Given the description of an element on the screen output the (x, y) to click on. 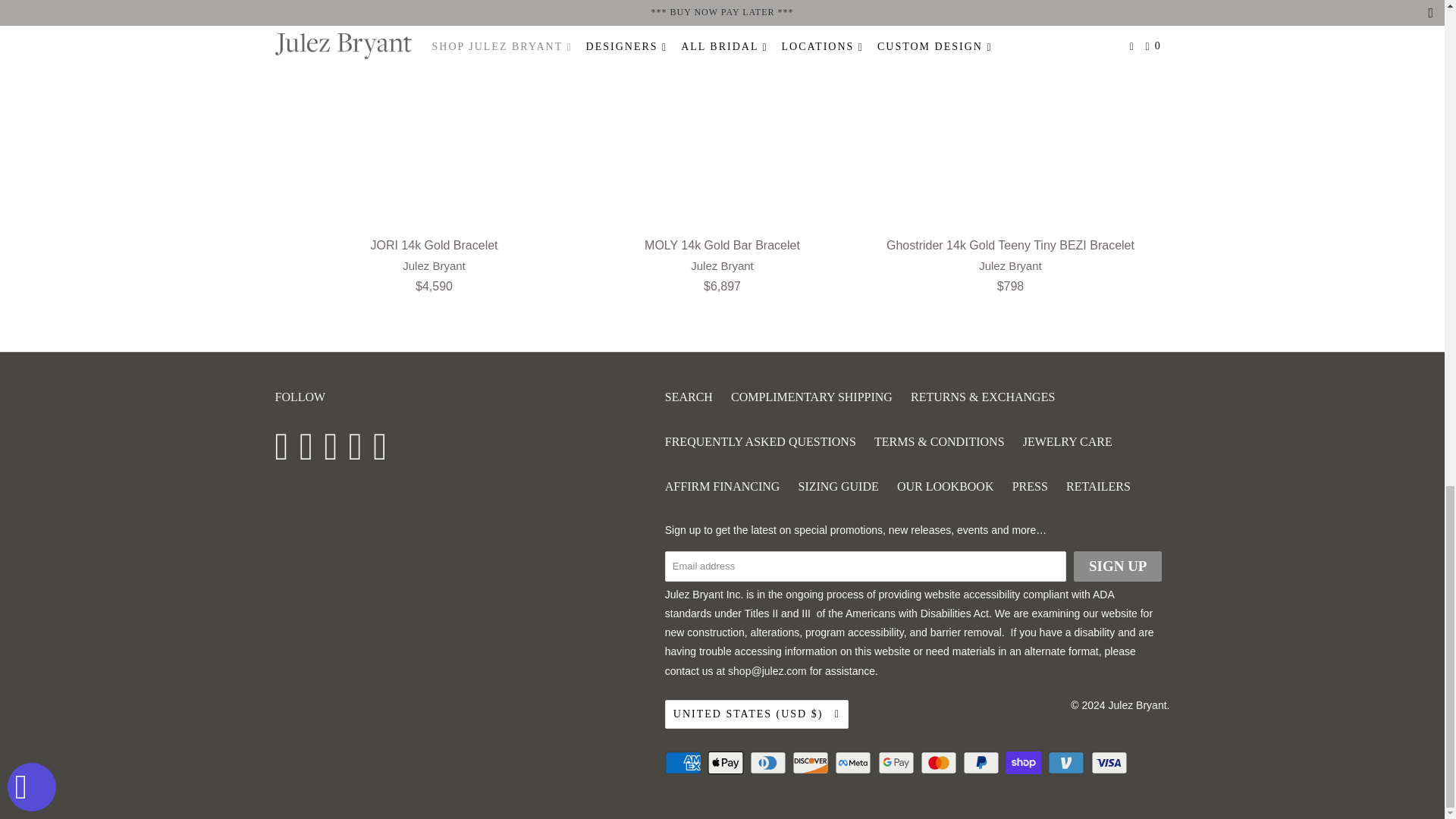
Venmo (1067, 762)
Shop Pay (1025, 762)
Mastercard (939, 762)
Apple Pay (726, 762)
Diners Club (769, 762)
Meta Pay (854, 762)
Google Pay (897, 762)
American Express (684, 762)
Visa (1109, 762)
Discover (811, 762)
